Given the description of an element on the screen output the (x, y) to click on. 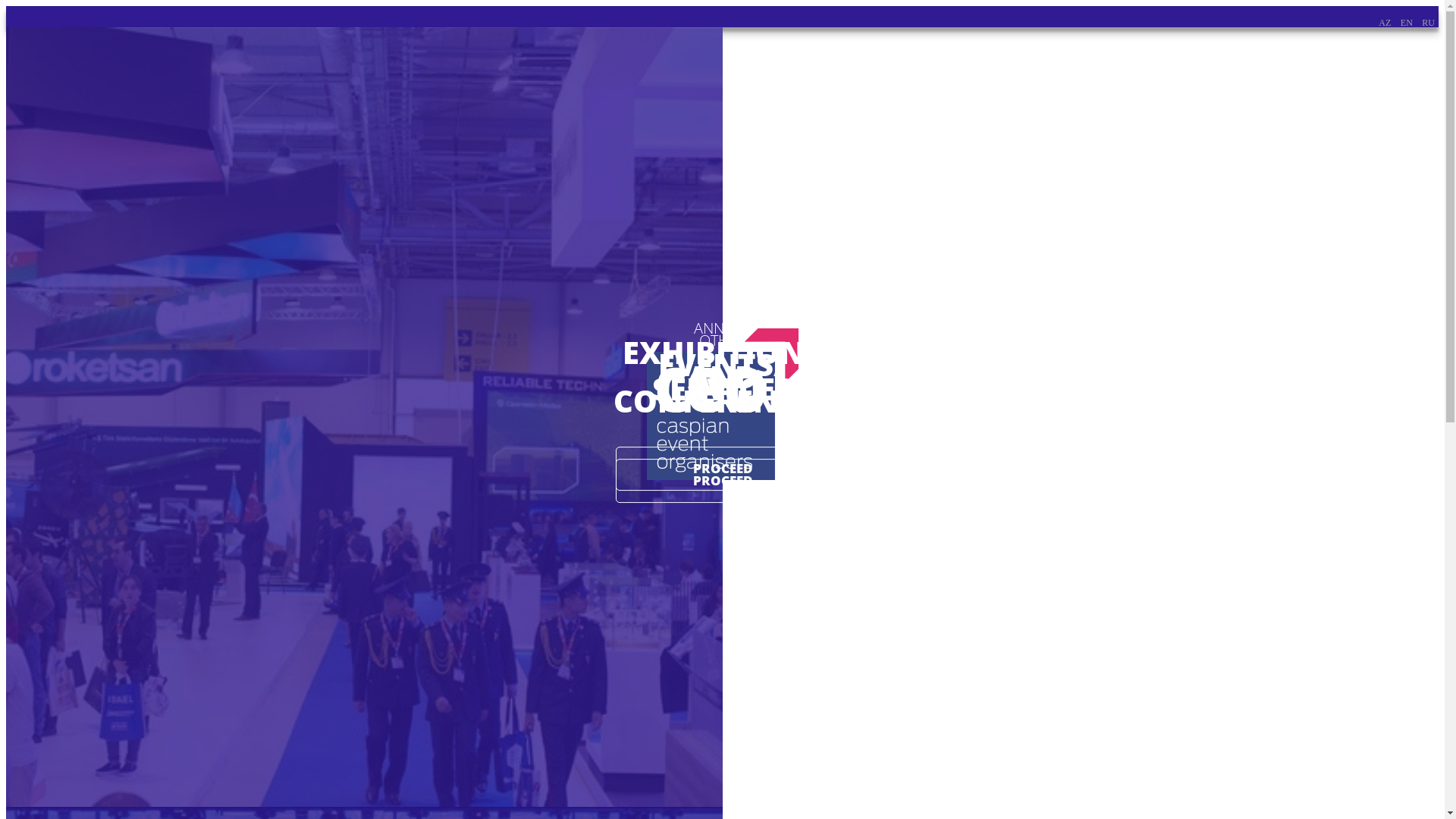
EN Element type: text (1406, 22)
AZ Element type: text (1384, 22)
PROCEED Element type: text (721, 480)
RU Element type: text (1427, 22)
ANNUAL
EXHIBITIONS
AND
CONFERENCES
PROCEED Element type: text (364, 416)
PROCEED Element type: text (721, 468)
